Given the description of an element on the screen output the (x, y) to click on. 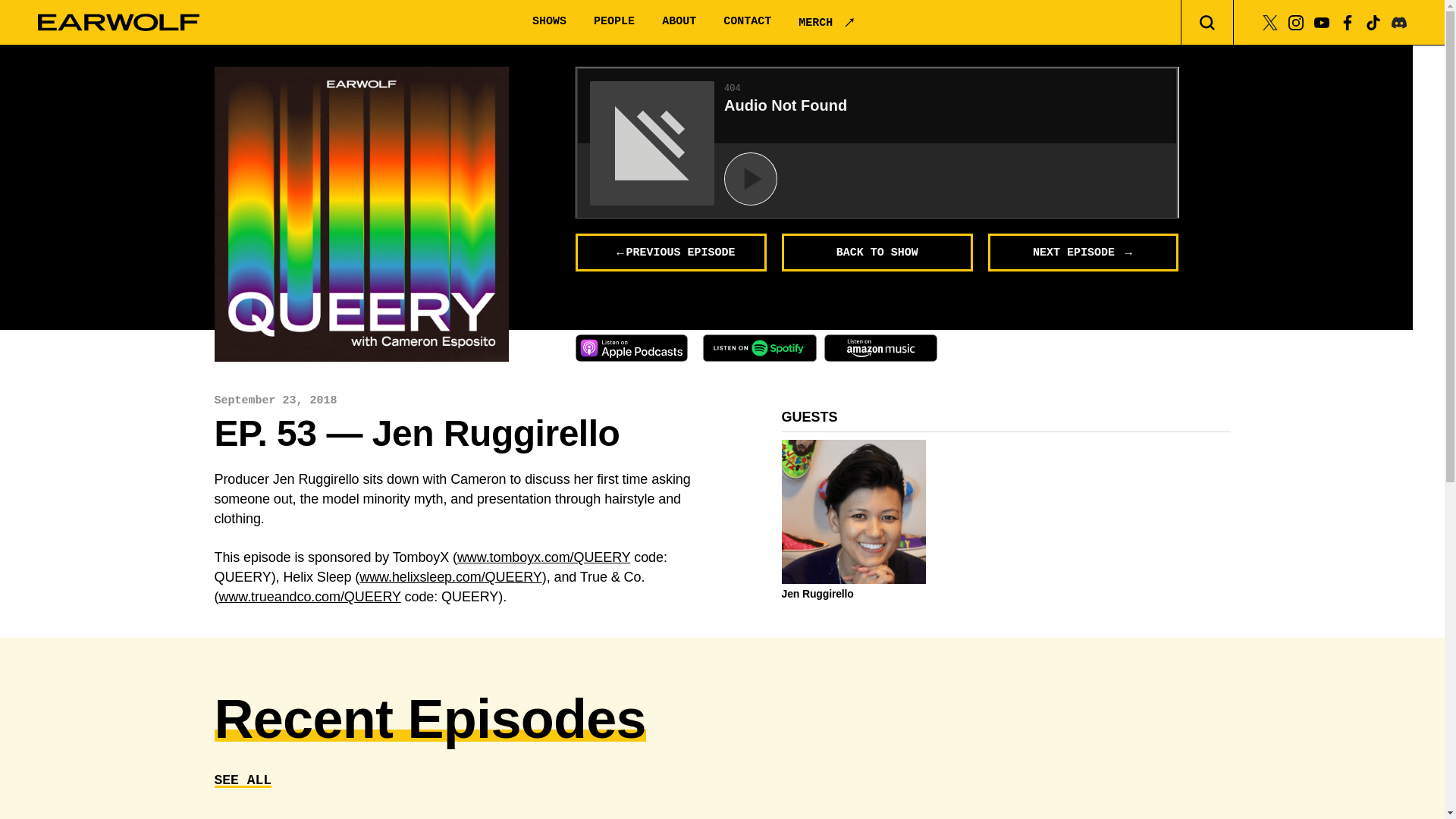
CONTACT (747, 21)
PEOPLE (614, 21)
SEE ALL (242, 780)
YouTube (1321, 21)
Instagram (1295, 21)
Jen Ruggirello (853, 593)
SHOWS (549, 21)
Tiktok (1372, 21)
BACK TO SHOW (876, 252)
ABOUT (678, 21)
Jen Ruggirello (361, 213)
Facebook (1347, 21)
Earwolf (118, 22)
Toggle Search (1206, 22)
